Given the description of an element on the screen output the (x, y) to click on. 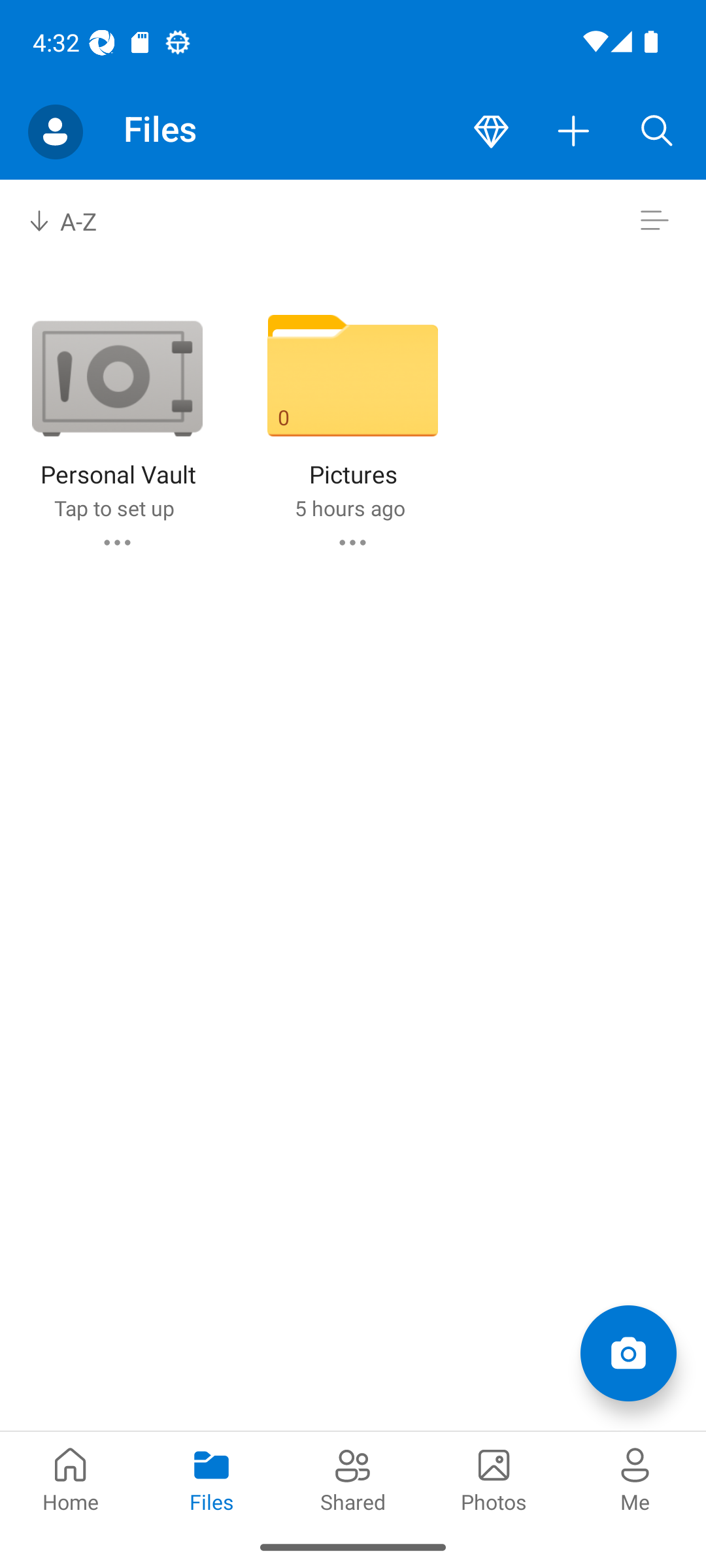
Account switcher (55, 131)
Premium button (491, 131)
More actions button (574, 131)
Search button (656, 131)
A-Z Sort by combo box, sort by name, A to Z (76, 220)
Switch to list view (654, 220)
Tap to set up (113, 507)
5 hours ago (349, 507)
Personal Vault commands (116, 542)
Pictures commands (352, 542)
Add items Scan (628, 1352)
Home pivot Home (70, 1478)
Shared pivot Shared (352, 1478)
Photos pivot Photos (493, 1478)
Me pivot Me (635, 1478)
